Given the description of an element on the screen output the (x, y) to click on. 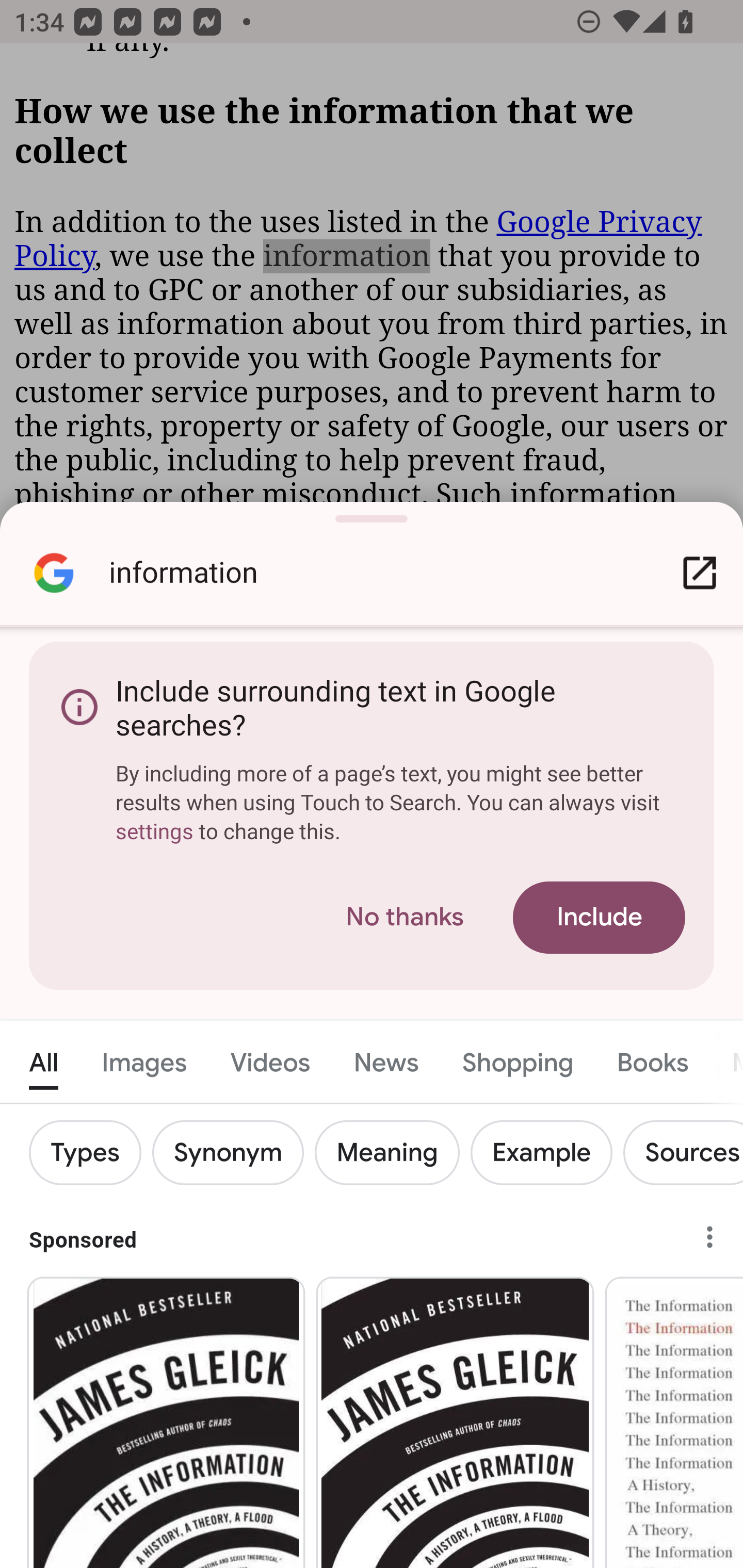
No thanks (404, 917)
Include (598, 917)
